Given the description of an element on the screen output the (x, y) to click on. 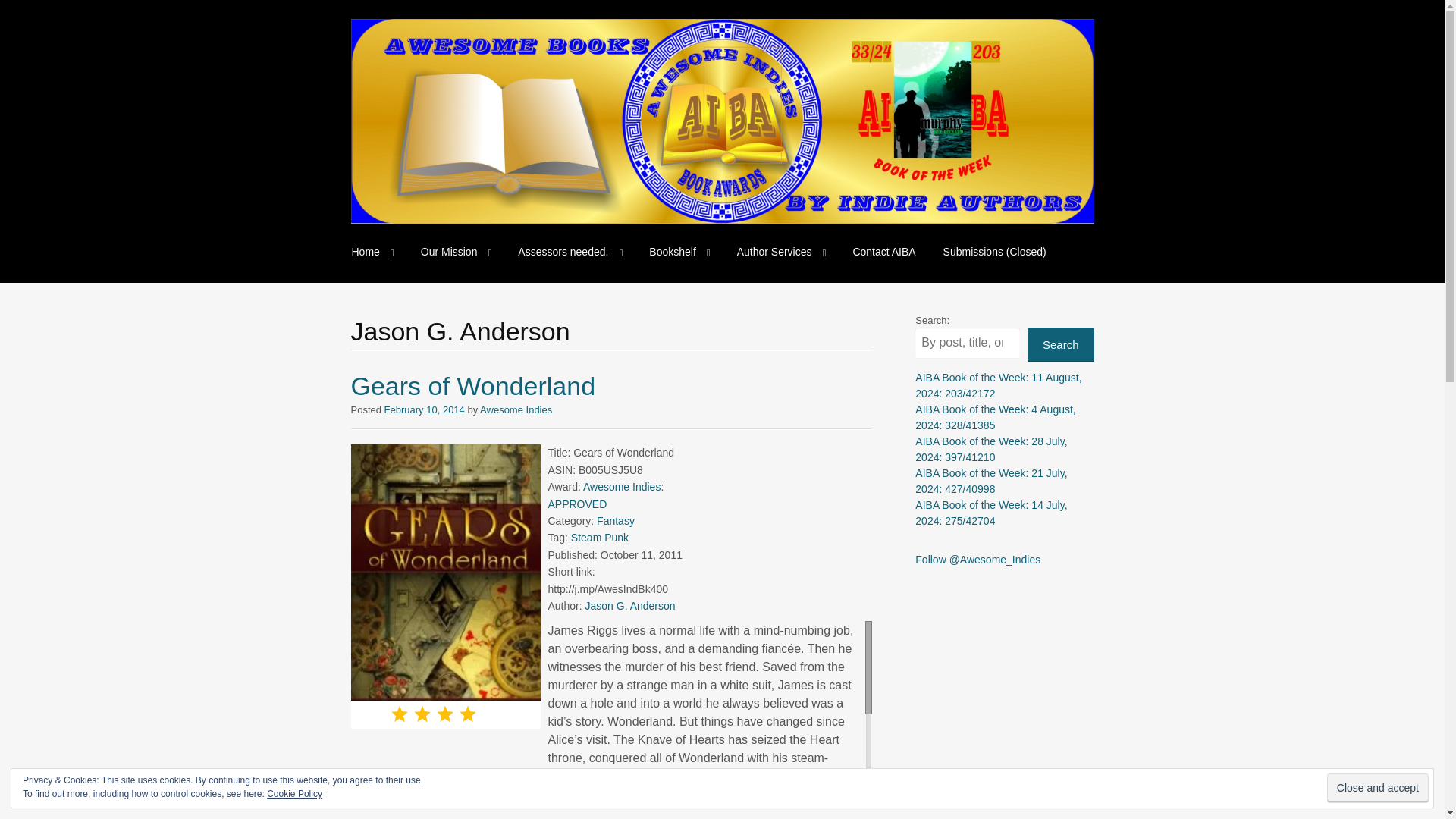
Author Services (781, 251)
4 out of 5 stars (445, 714)
February 10, 2014 (424, 409)
Our Mission (456, 251)
Home (372, 251)
Awesome Indies: APPROVED (605, 494)
Assessors needed. (569, 251)
Close and accept (1377, 788)
Fantasy (615, 521)
View all posts by Awesome Indies (515, 409)
